Given the description of an element on the screen output the (x, y) to click on. 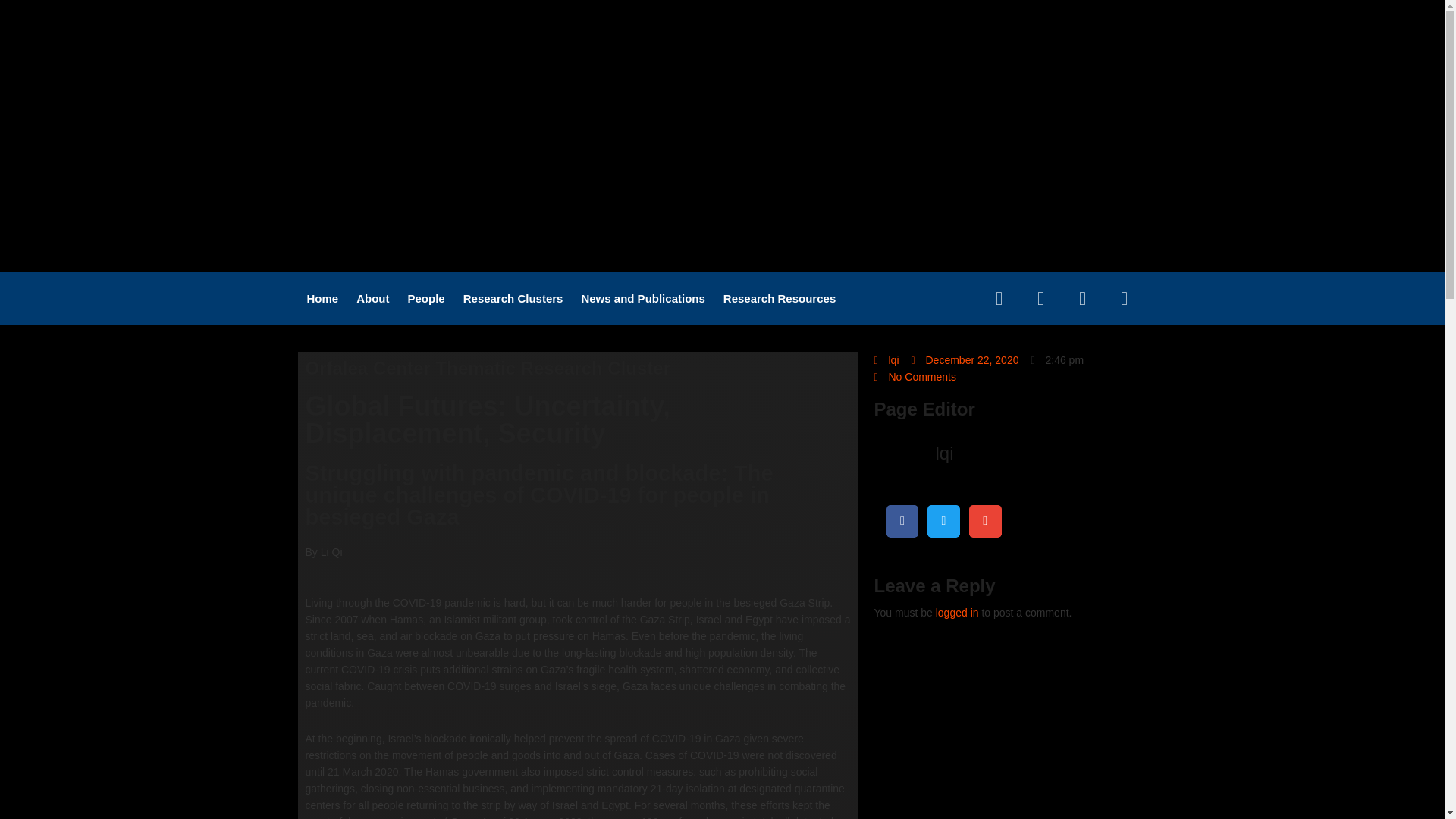
News and Publications (642, 298)
People (426, 298)
December 22, 2020 (965, 360)
About (372, 298)
Research Clusters (513, 298)
Home (322, 298)
logged in (957, 612)
No Comments (914, 376)
Research Resources (779, 298)
lqi (885, 360)
